Given the description of an element on the screen output the (x, y) to click on. 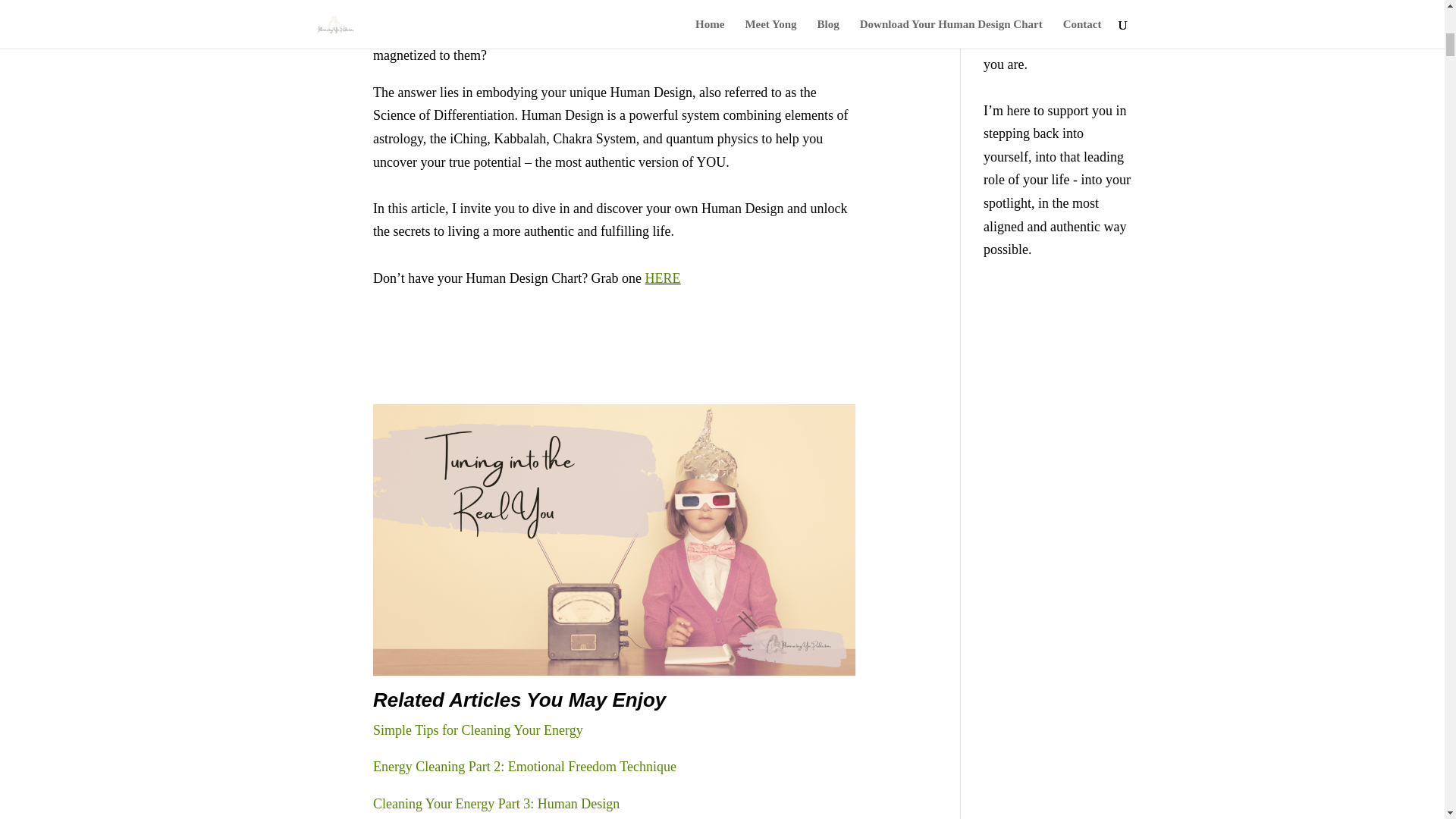
Tuning into the Real You using Human Design (614, 539)
Energy Cleaning Part 2: Emotional Freedom Technique (524, 766)
Simple Tips for Cleaning Your Energy (477, 729)
Cleaning Your Energy Part 3: Human Design (496, 803)
HERE (663, 278)
